Given the description of an element on the screen output the (x, y) to click on. 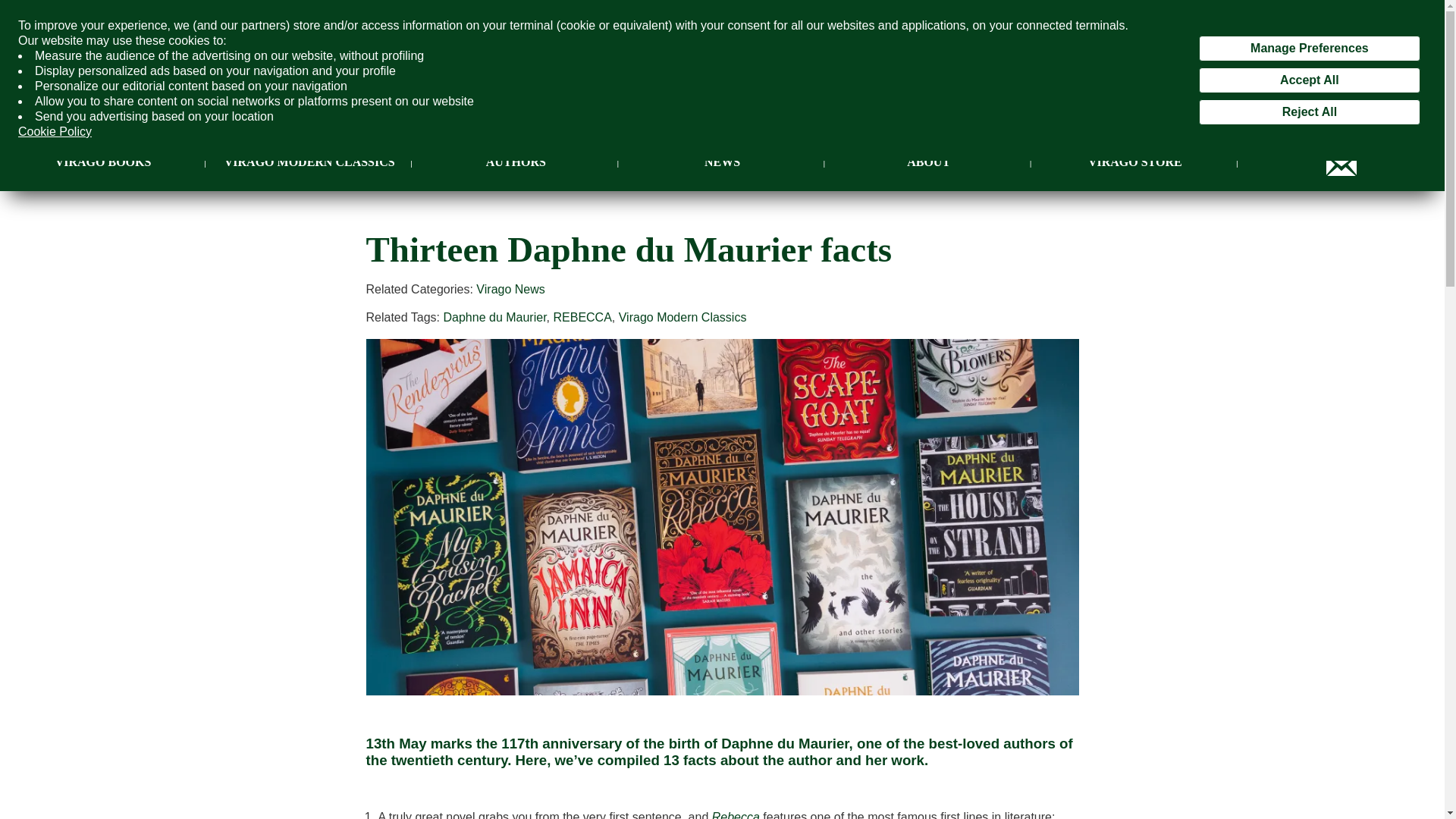
AUTHORS (515, 161)
REBECCA (582, 317)
VIRAGO BOOKS (103, 161)
Virago News (510, 288)
Manage Preferences (1309, 48)
NEWSLETTER (1340, 161)
Reject All (1309, 112)
Accept All (1309, 80)
NEWS (721, 161)
ABOUT (928, 161)
